Given the description of an element on the screen output the (x, y) to click on. 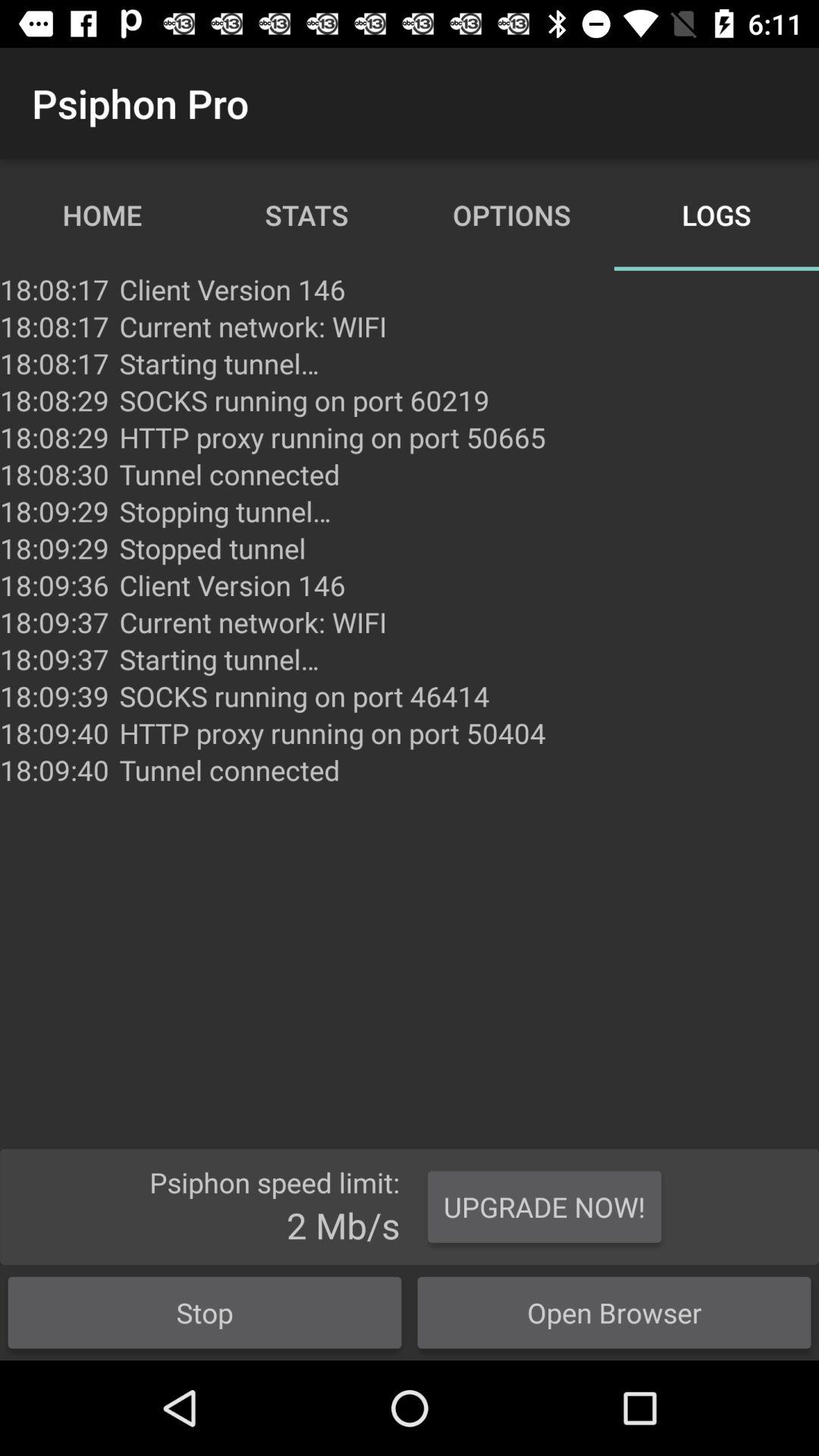
select item to the right of 18:08:30 item (225, 511)
